Given the description of an element on the screen output the (x, y) to click on. 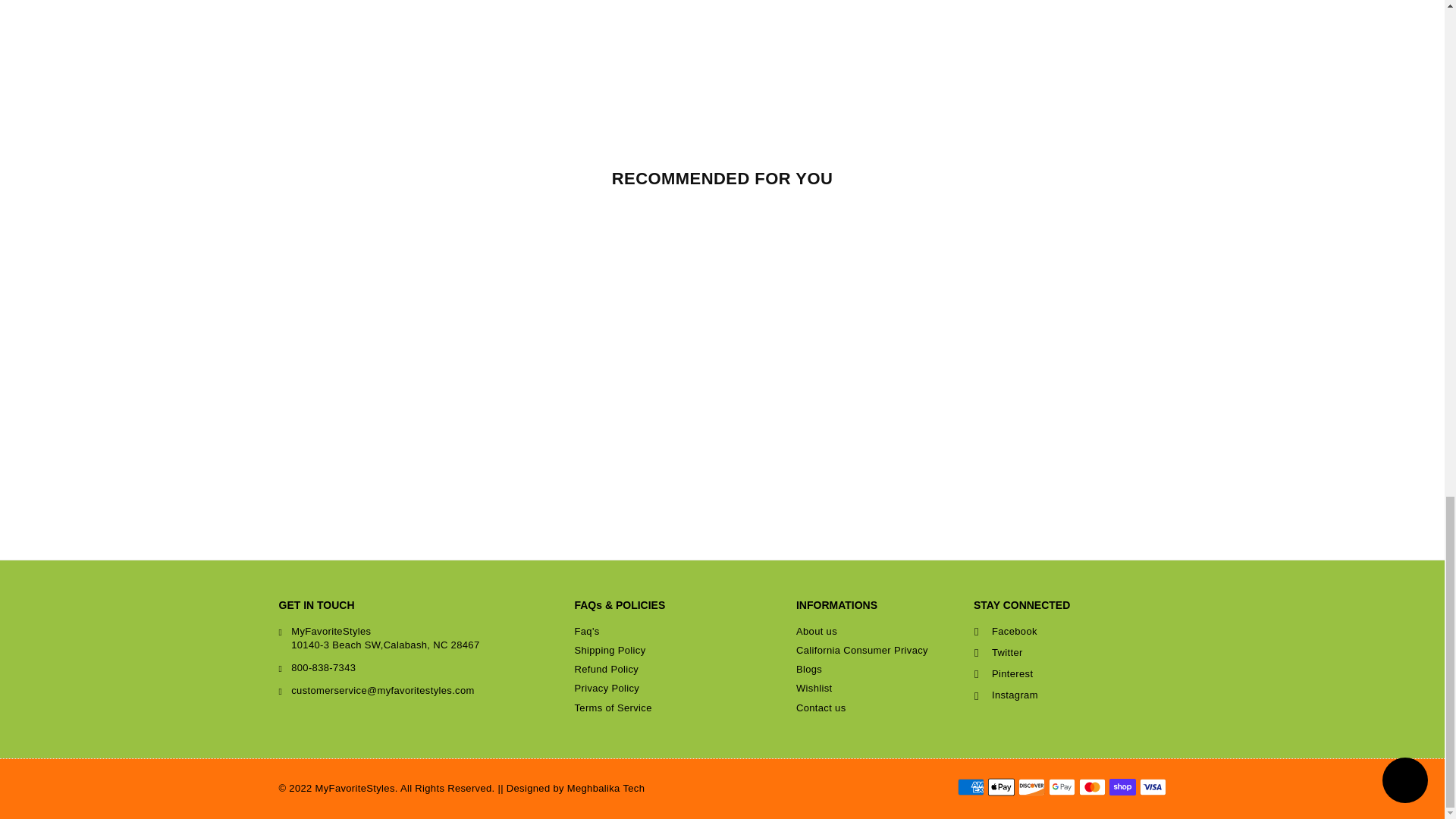
Shop Pay (1121, 787)
Discover (1030, 787)
Visa (1152, 787)
Mastercard (1091, 787)
Apple Pay (1000, 787)
American Express (970, 787)
Google Pay (1061, 787)
